Given the description of an element on the screen output the (x, y) to click on. 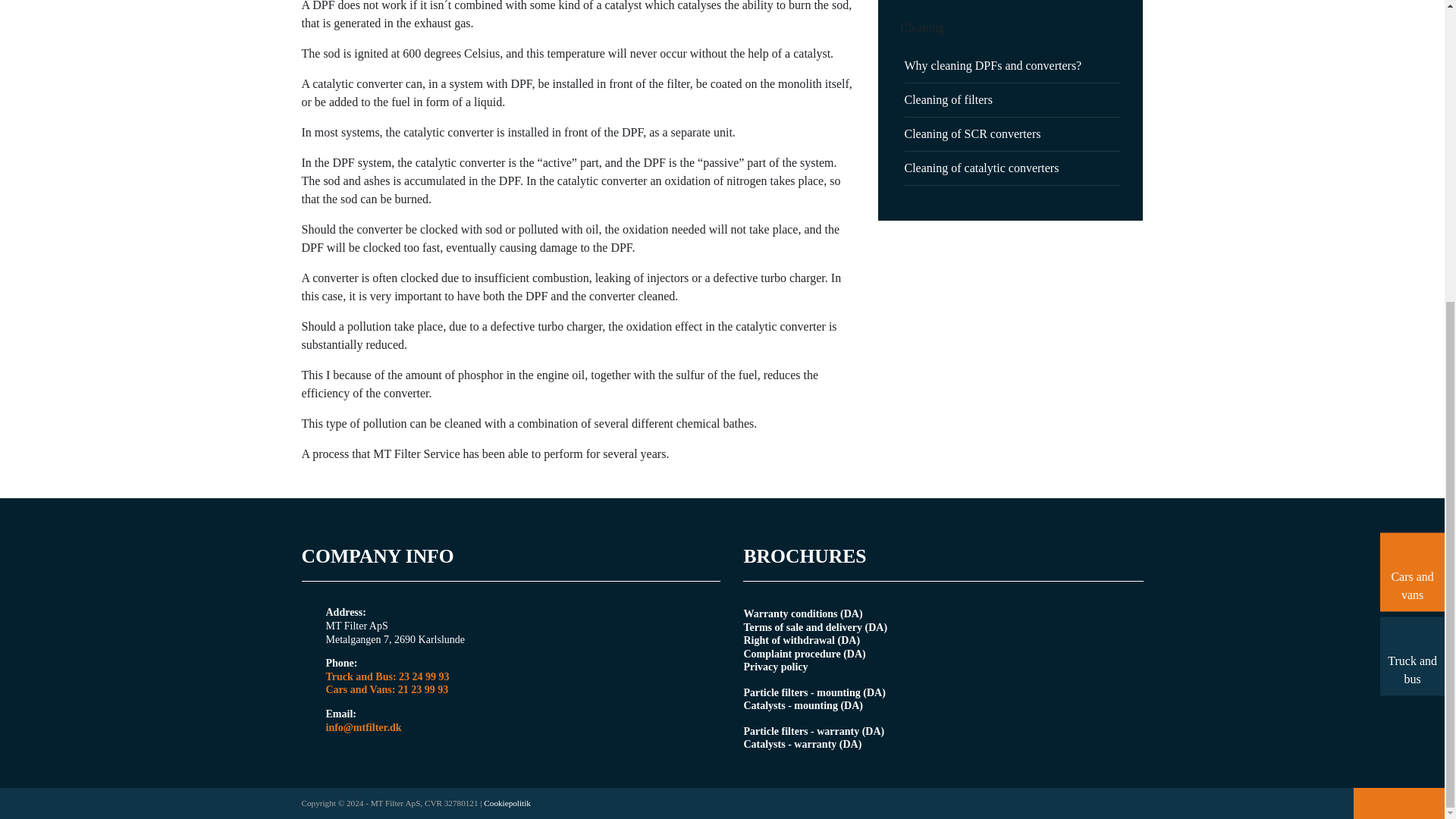
Cleaning of catalytic converters (981, 167)
Privacy policy (775, 666)
Truck and Bus: 23 24 99 93 (387, 676)
Why cleaning DPFs and converters? (992, 65)
Cleaning of SCR converters (972, 133)
Cars and Vans: 21 23 99 93 (387, 689)
Cleaning of filters (947, 99)
